Given the description of an element on the screen output the (x, y) to click on. 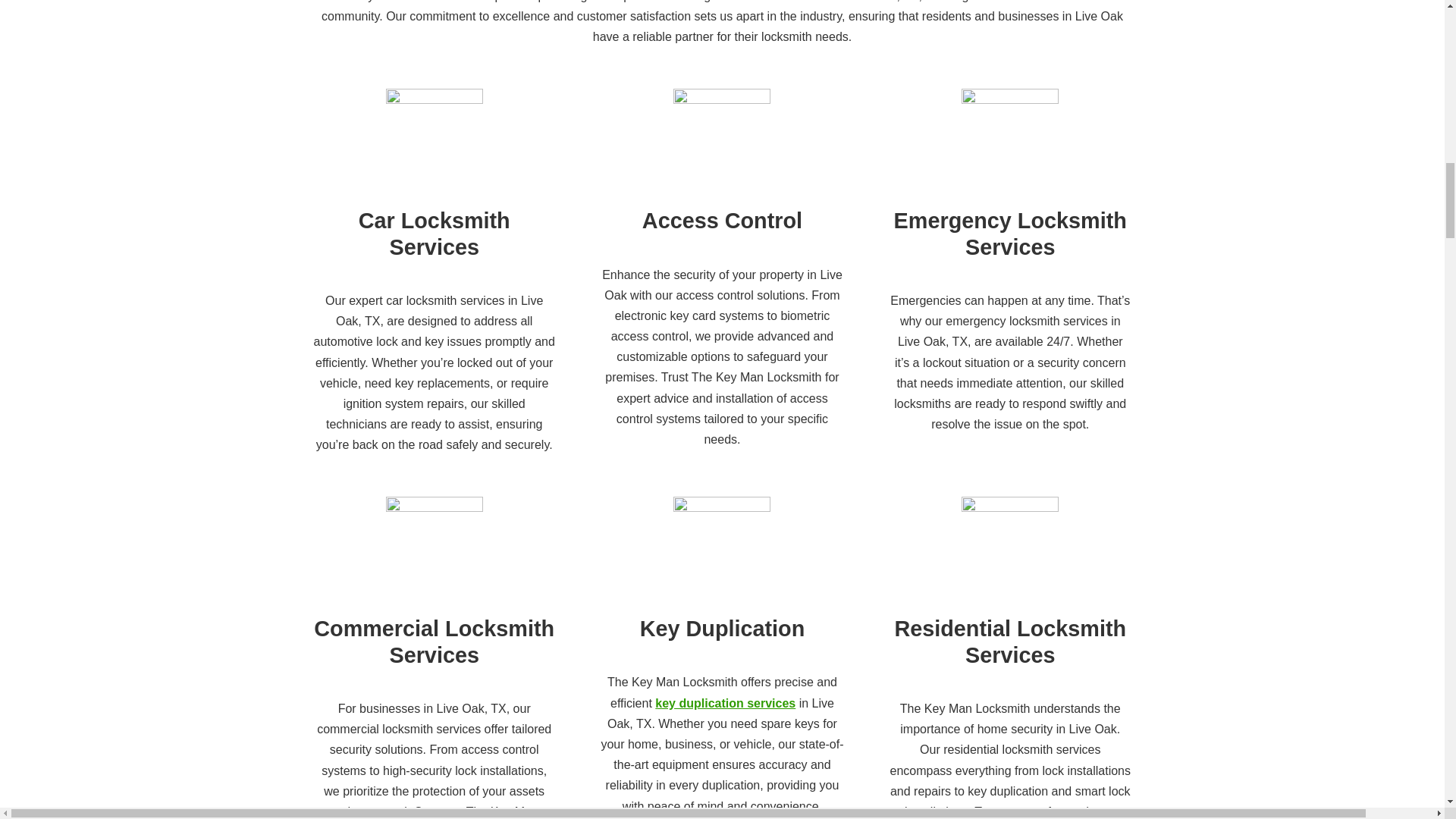
emergency-call (1009, 99)
network-access (721, 99)
apartment (434, 507)
